Given the description of an element on the screen output the (x, y) to click on. 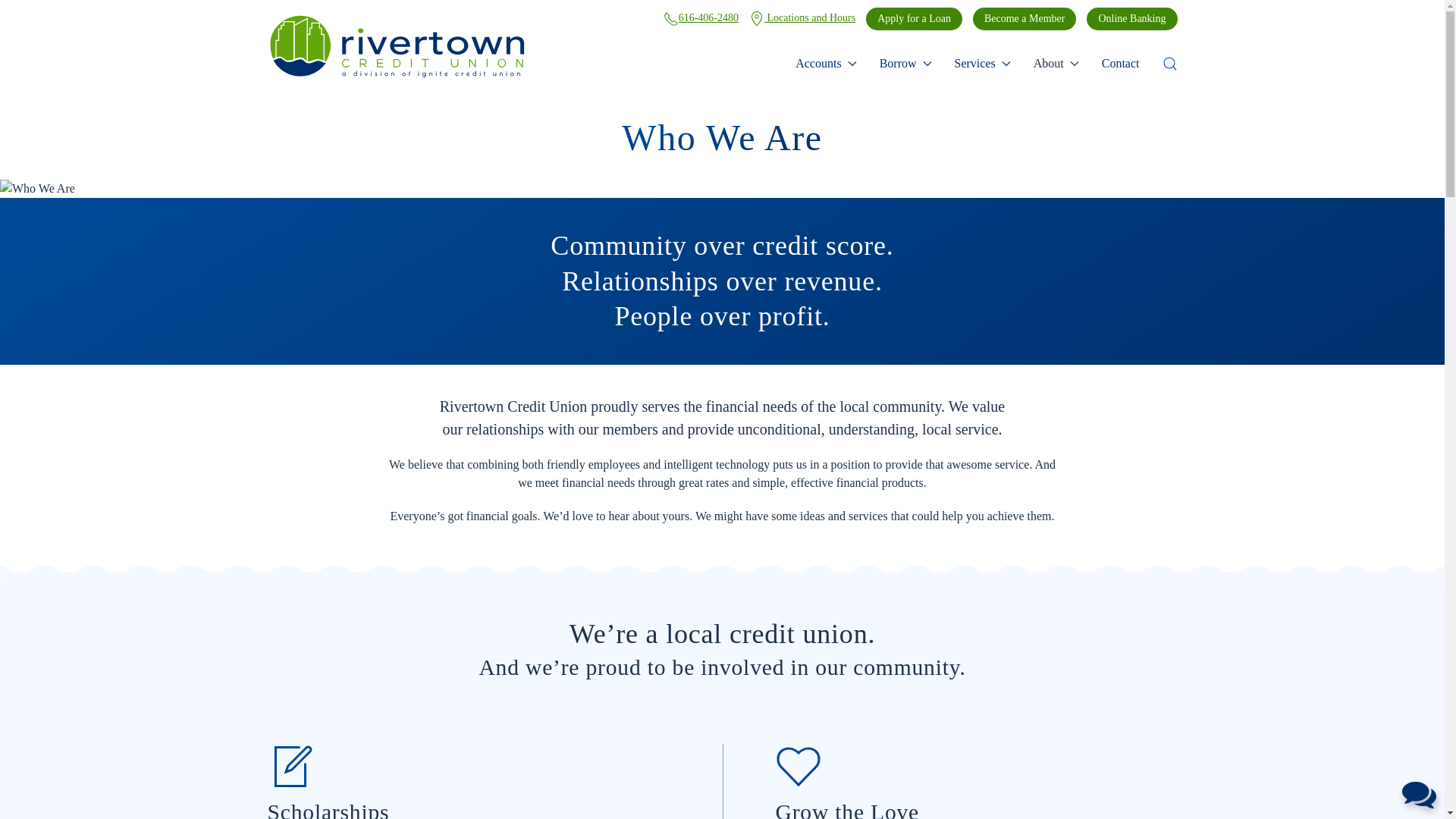
616-406-2480 (700, 17)
Borrow (905, 63)
Apply for a Loan (914, 18)
Services (982, 63)
Locations and Hours (802, 17)
Accounts (825, 63)
Become a Member (1024, 18)
Online Banking (1131, 18)
